Given the description of an element on the screen output the (x, y) to click on. 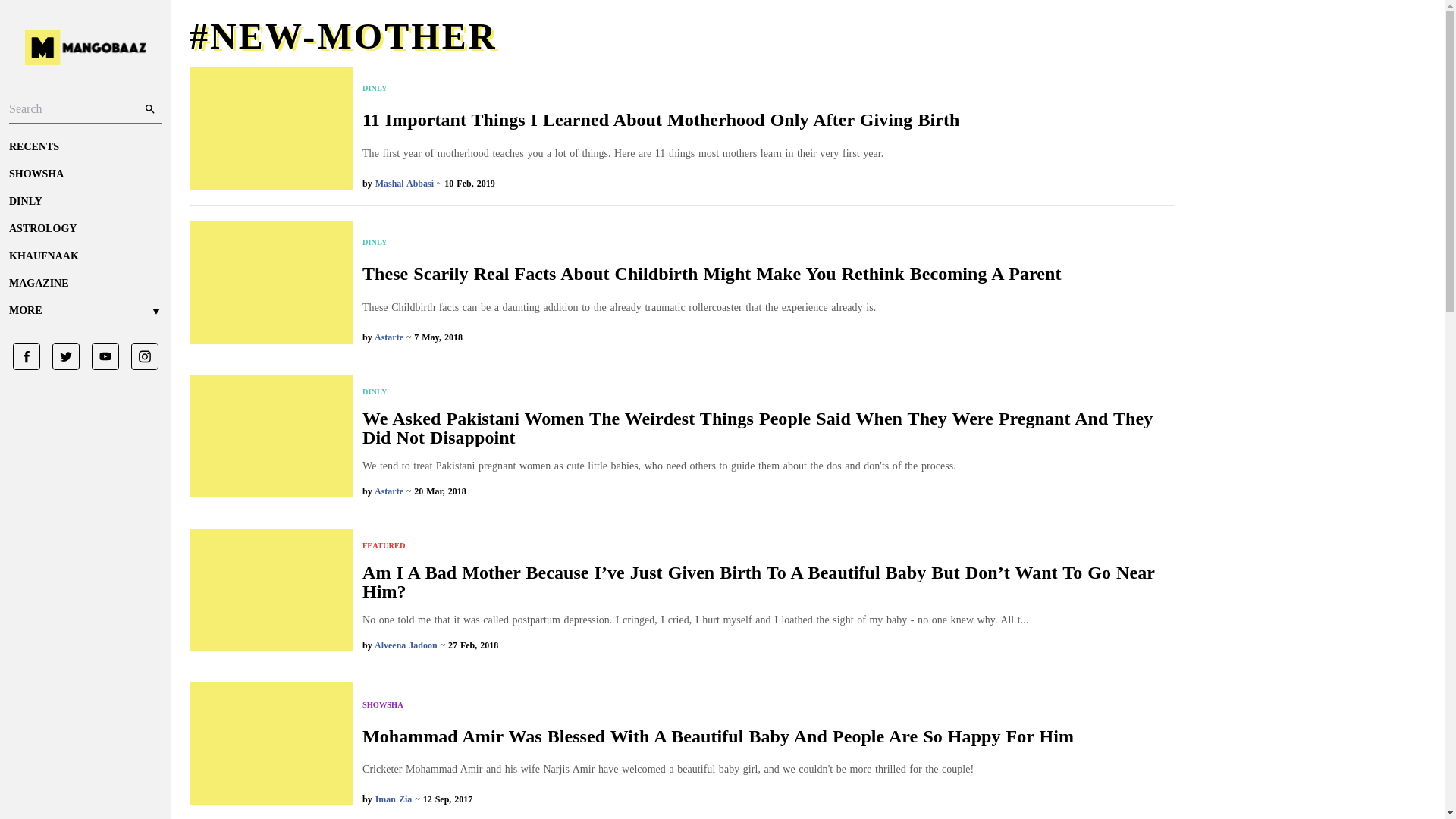
RECENTS (84, 146)
DINLY (84, 201)
ASTROLOGY (84, 228)
Link to Twitter (60, 356)
Astarte (388, 337)
DINLY (768, 391)
SHOWSHA (84, 174)
KHAUFNAAK (84, 256)
Link to Youtube (99, 356)
Link to Facebook (26, 356)
Mashal Abbasi (404, 183)
DINLY (660, 88)
MangoBaaz Magazine (84, 283)
Link to Instagram (138, 356)
MORE (84, 310)
